Given the description of an element on the screen output the (x, y) to click on. 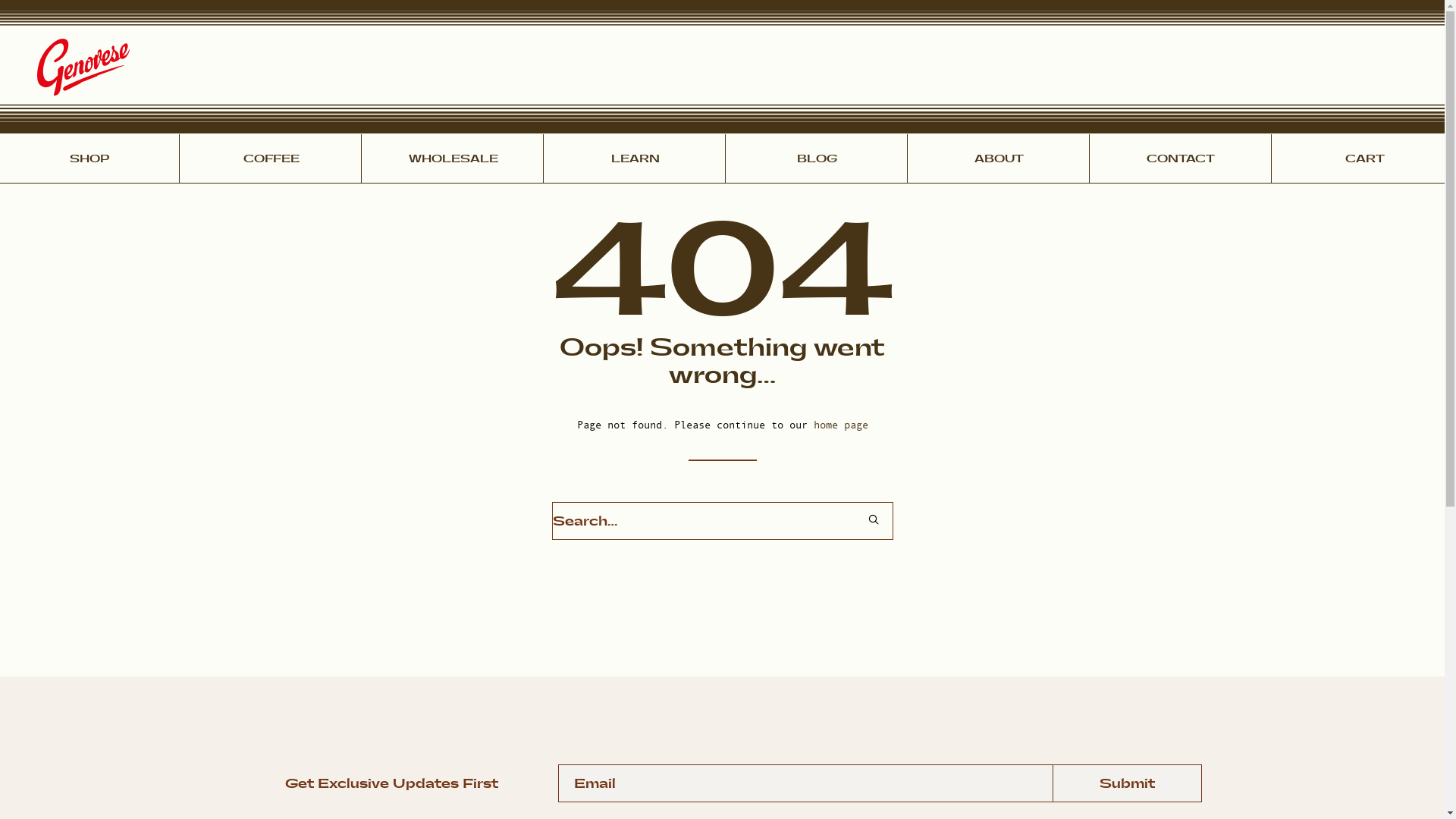
CONTACT Element type: text (1180, 158)
BLOG Element type: text (817, 158)
Submit Element type: text (1126, 783)
COFFEE Element type: text (271, 158)
Search for: Element type: hover (722, 520)
WHOLESALE Element type: text (453, 158)
ABOUT Element type: text (998, 158)
home page Element type: text (839, 423)
LEARN Element type: text (635, 158)
SHOP Element type: text (89, 158)
CART Element type: text (1364, 158)
